Given the description of an element on the screen output the (x, y) to click on. 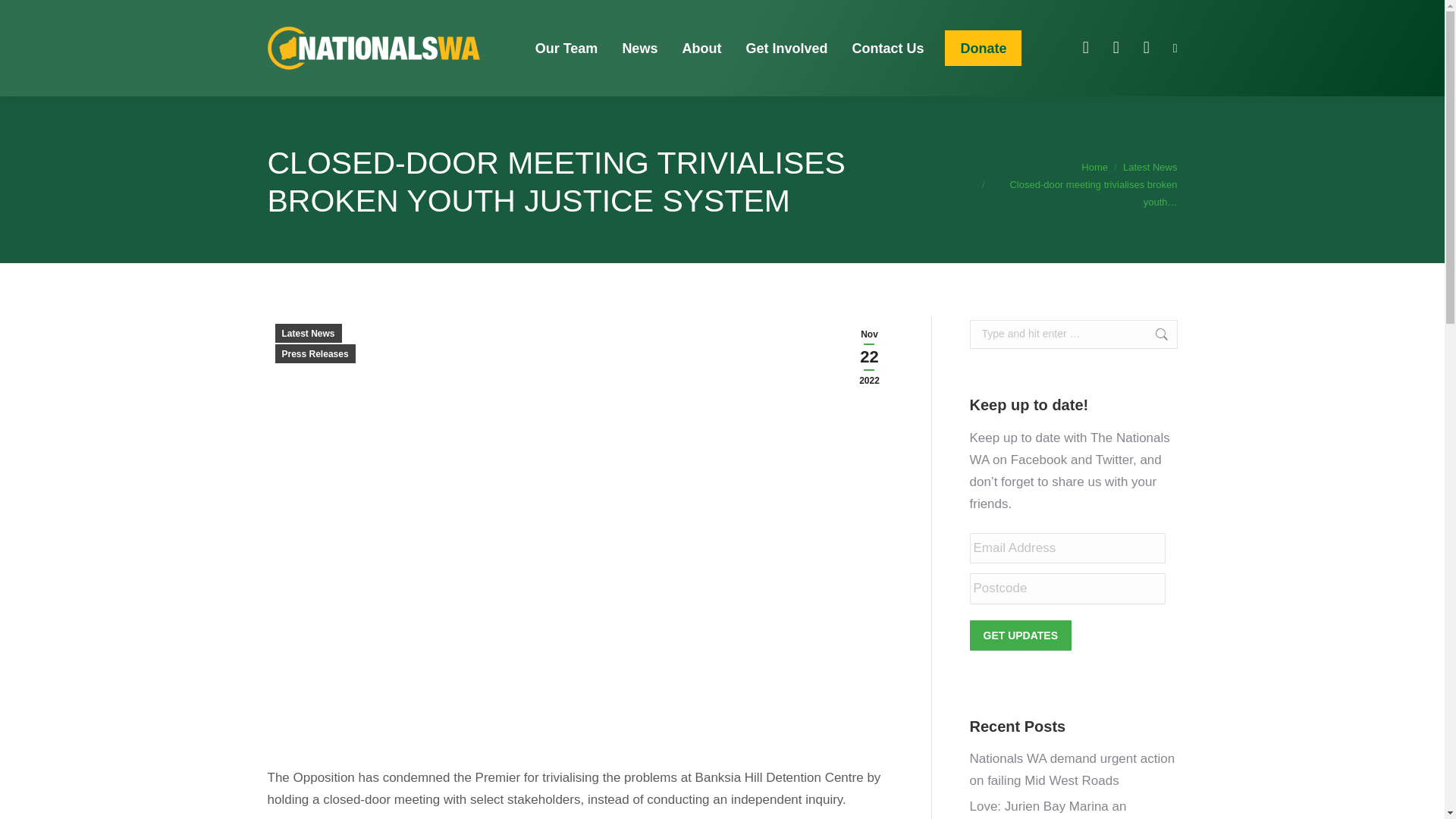
Go! (1153, 334)
X page opens in new window (1115, 47)
Facebook page opens in new window (1085, 47)
Go! (1153, 334)
Facebook page opens in new window (1085, 47)
X page opens in new window (1115, 47)
YouTube page opens in new window (1146, 47)
Contact Us (887, 47)
Home (1094, 166)
Go! (24, 16)
